Given the description of an element on the screen output the (x, y) to click on. 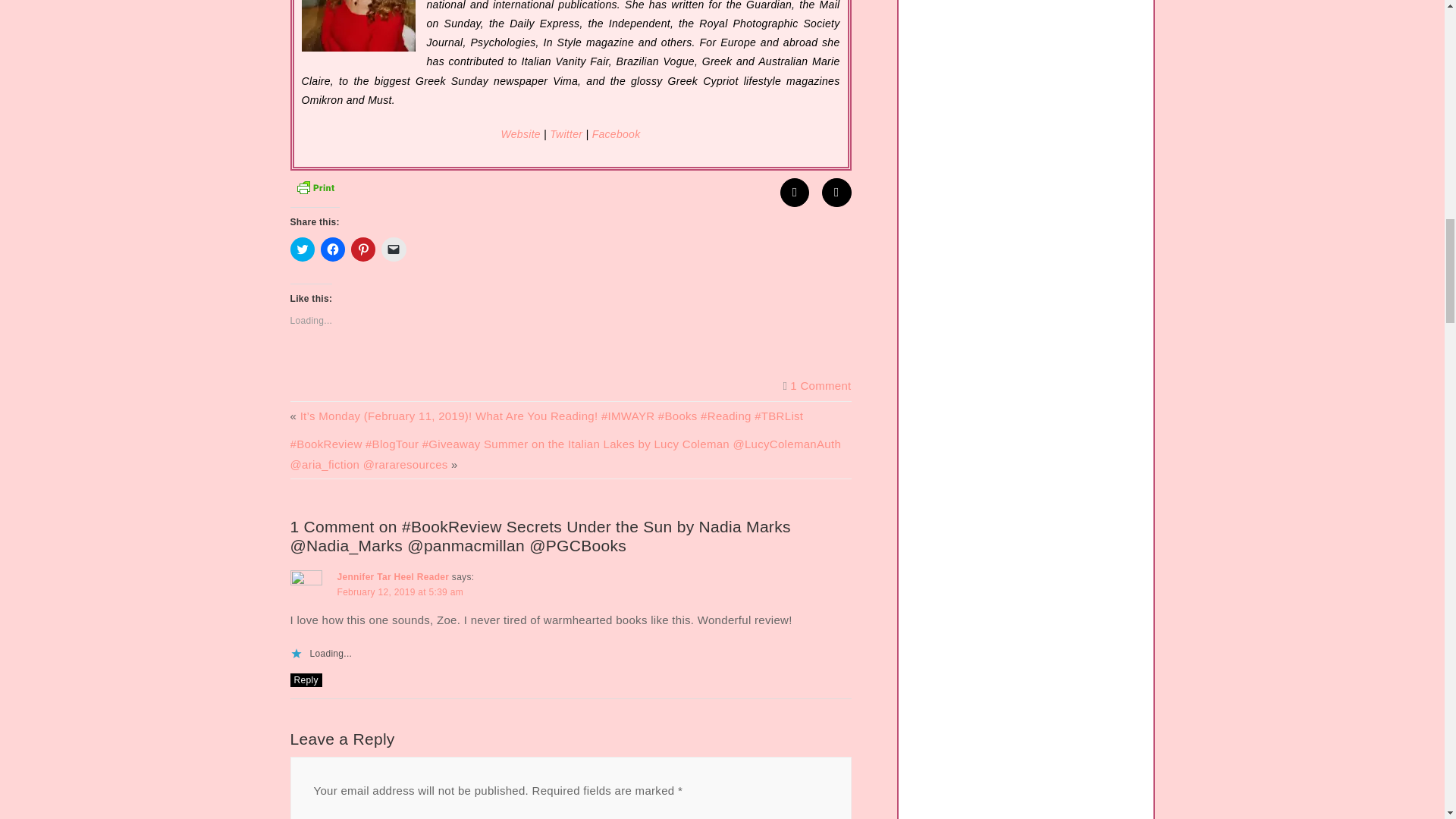
Click to share on Pinterest (362, 249)
Click to share on Facebook (332, 249)
Click to email a link to a friend (393, 249)
Click to share on Twitter (301, 249)
